Given the description of an element on the screen output the (x, y) to click on. 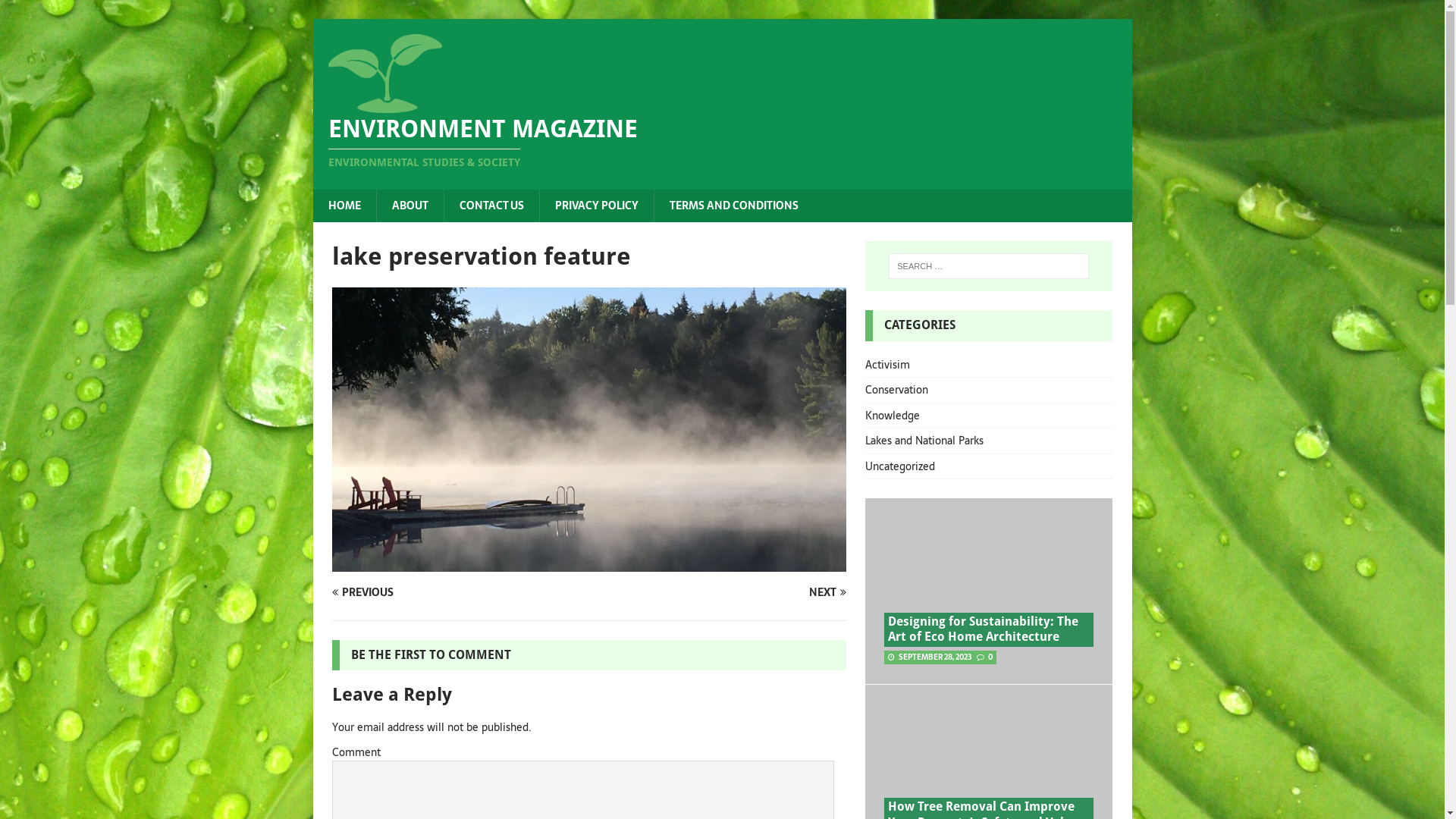
PRIVACY POLICY Element type: text (595, 205)
ABOUT Element type: text (409, 205)
Knowledge Element type: text (988, 415)
Search Element type: text (56, 11)
Uncategorized Element type: text (988, 466)
lake preservation feature Element type: hover (589, 562)
NEXT Element type: text (720, 591)
ENVIRONMENT MAGAZINE
ENVIRONMENTAL STUDIES & SOCIETY Element type: text (721, 143)
Conservation Element type: text (988, 389)
Lakes and National Parks Element type: text (988, 440)
PREVIOUS Element type: text (457, 591)
TERMS AND CONDITIONS Element type: text (733, 205)
HOME Element type: text (343, 205)
Activisim Element type: text (988, 366)
CONTACT US Element type: text (490, 205)
0 Element type: text (990, 656)
